Given the description of an element on the screen output the (x, y) to click on. 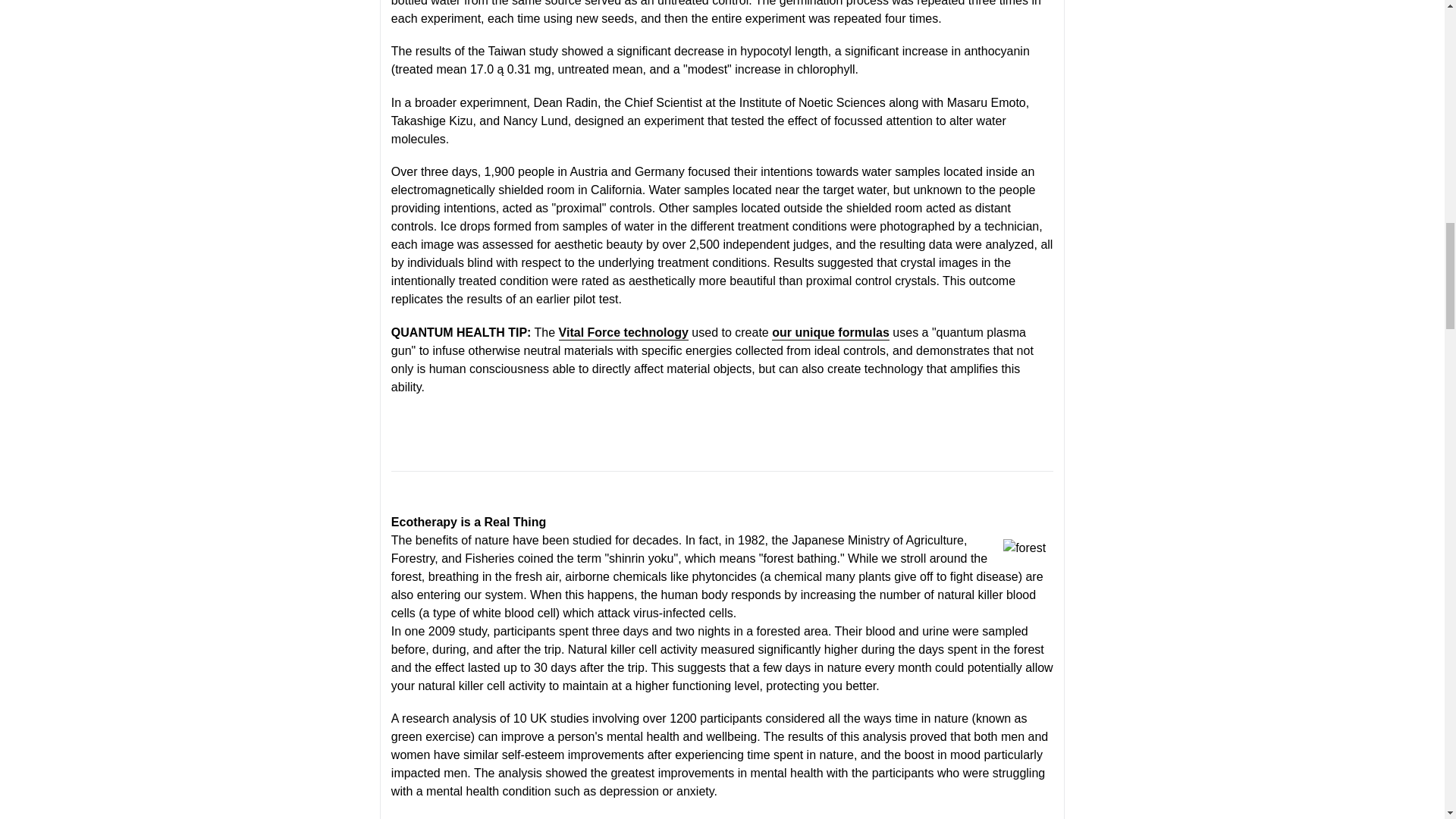
Take in the natural world to heal. (1024, 547)
